Given the description of an element on the screen output the (x, y) to click on. 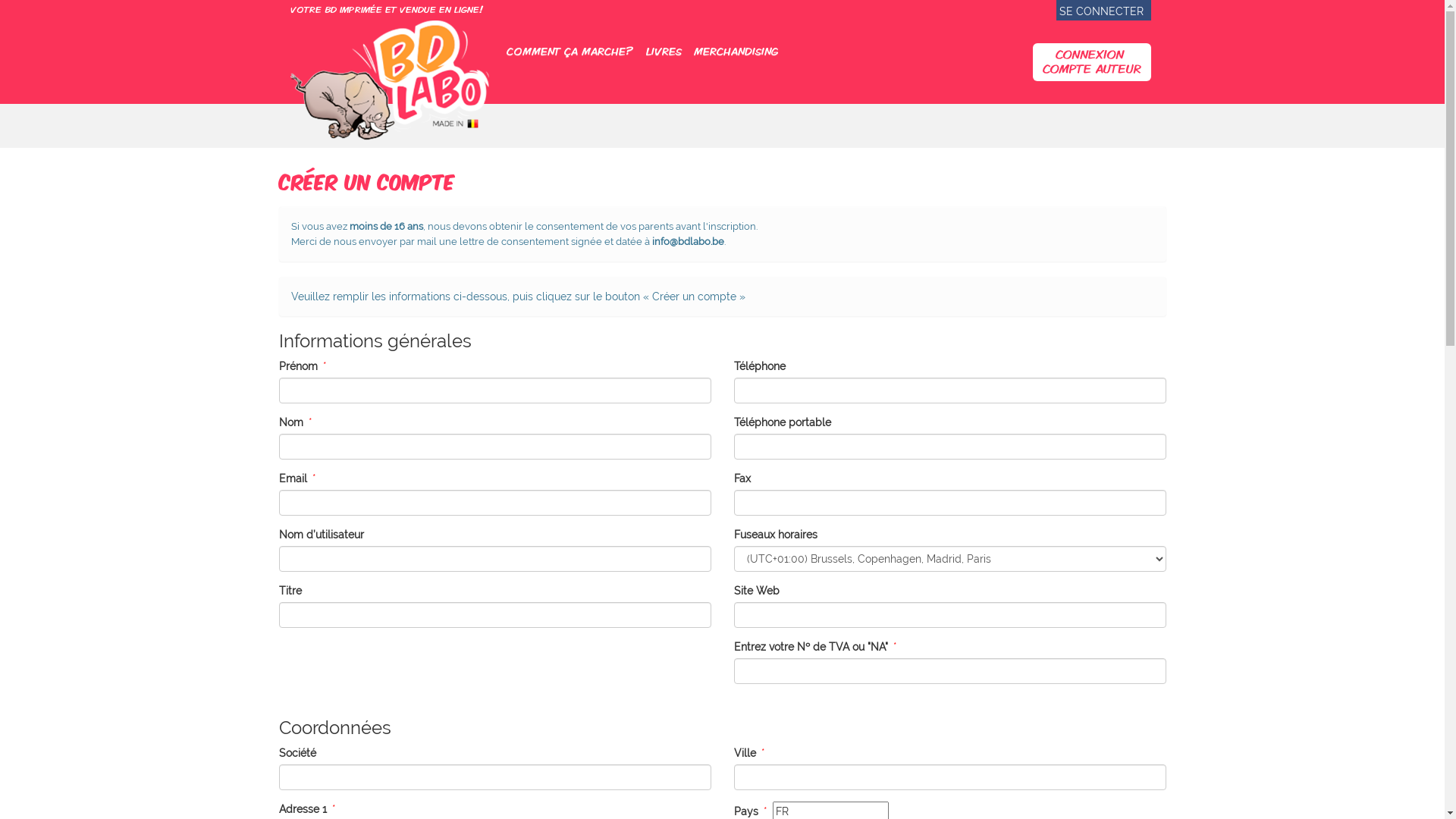
SE CONNECTER Element type: text (1100, 10)
MERCHANDISING Element type: text (735, 50)
LIVRES Element type: text (663, 50)
